Given the description of an element on the screen output the (x, y) to click on. 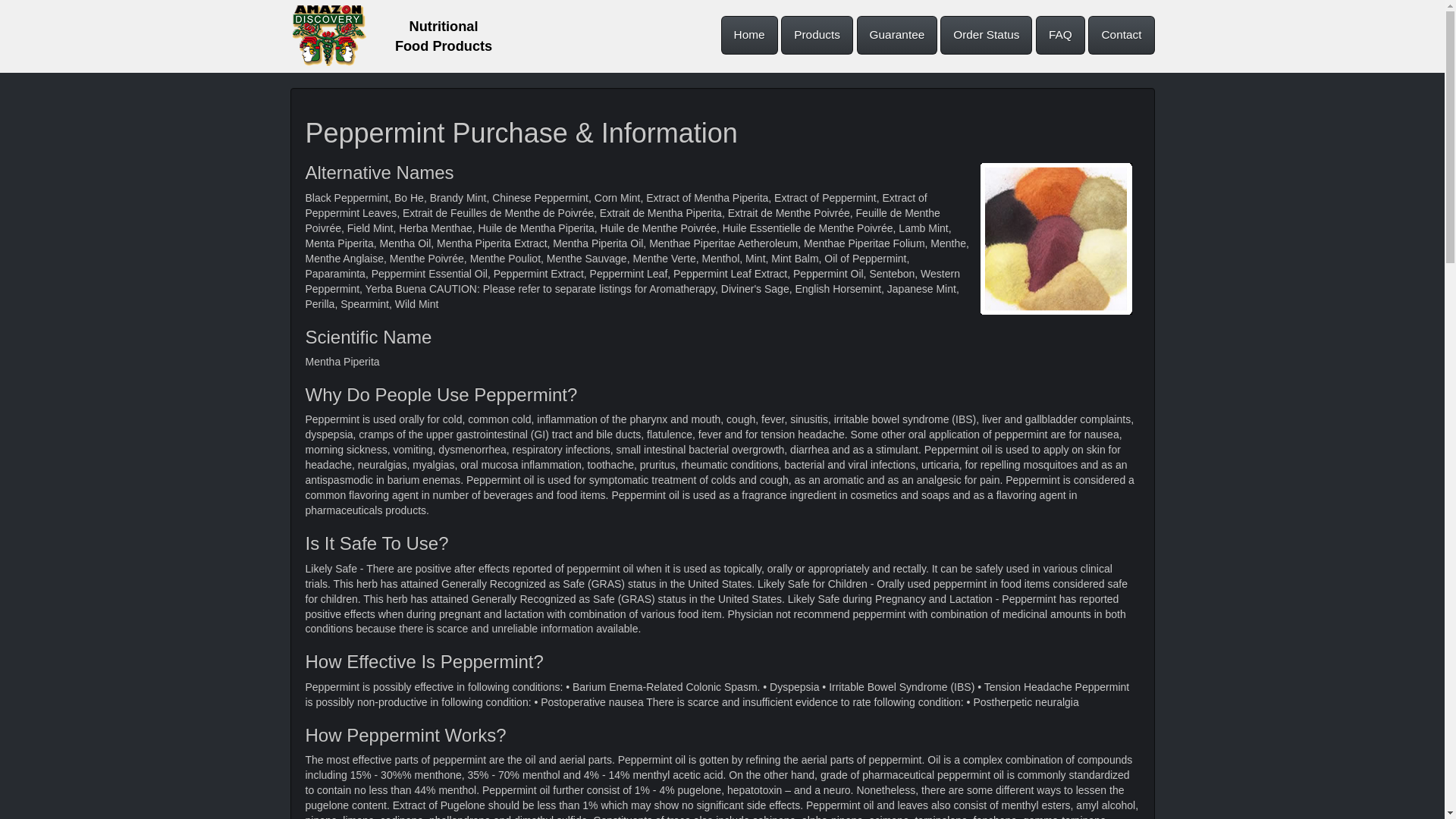
Guarantee (897, 34)
Home (748, 34)
Nutritional Food Products home page (327, 35)
Products (816, 34)
Order Status (986, 34)
Contact (1120, 34)
FAQ (1059, 34)
